Given the description of an element on the screen output the (x, y) to click on. 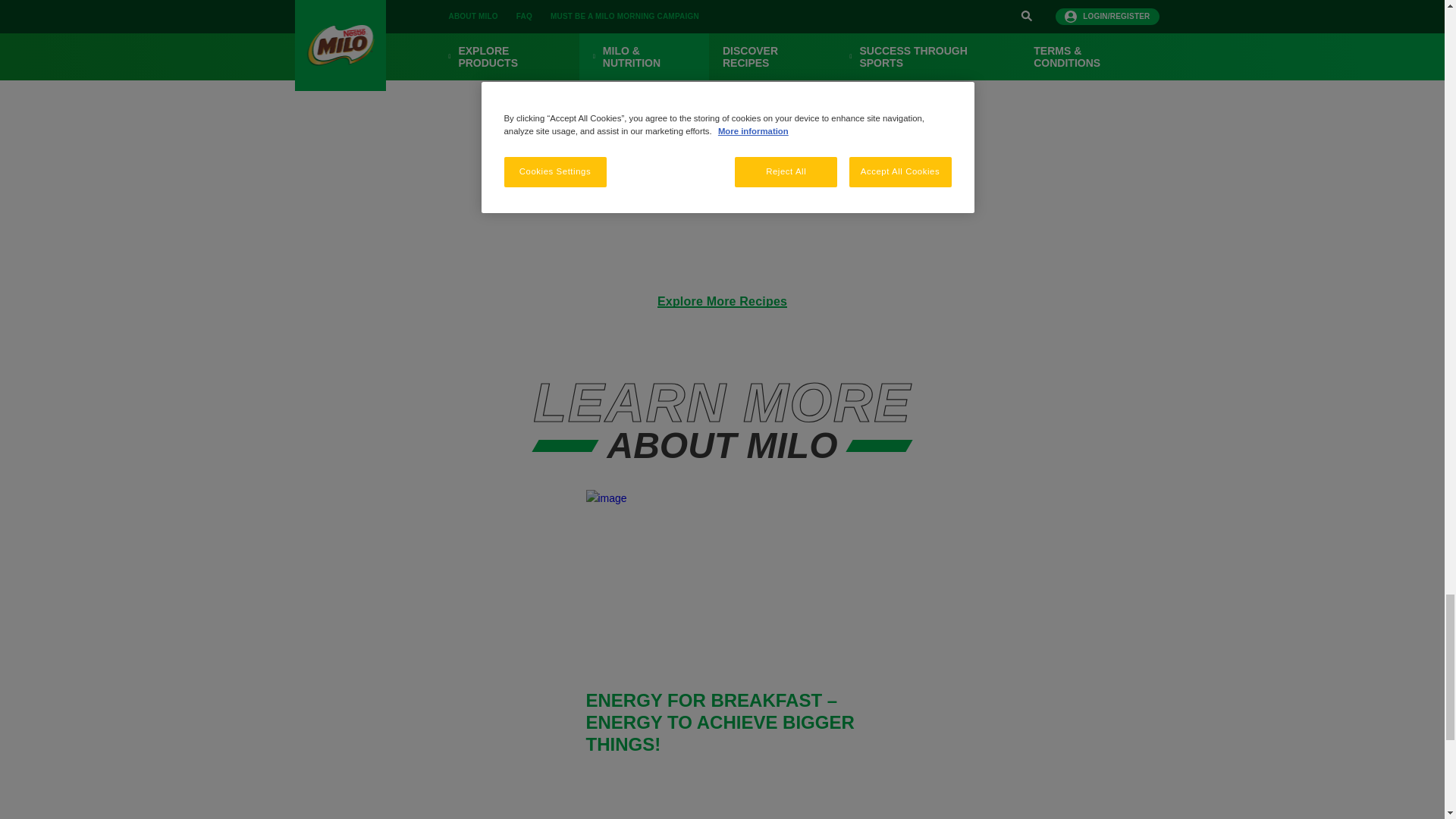
Explore More Products (721, 37)
